Given the description of an element on the screen output the (x, y) to click on. 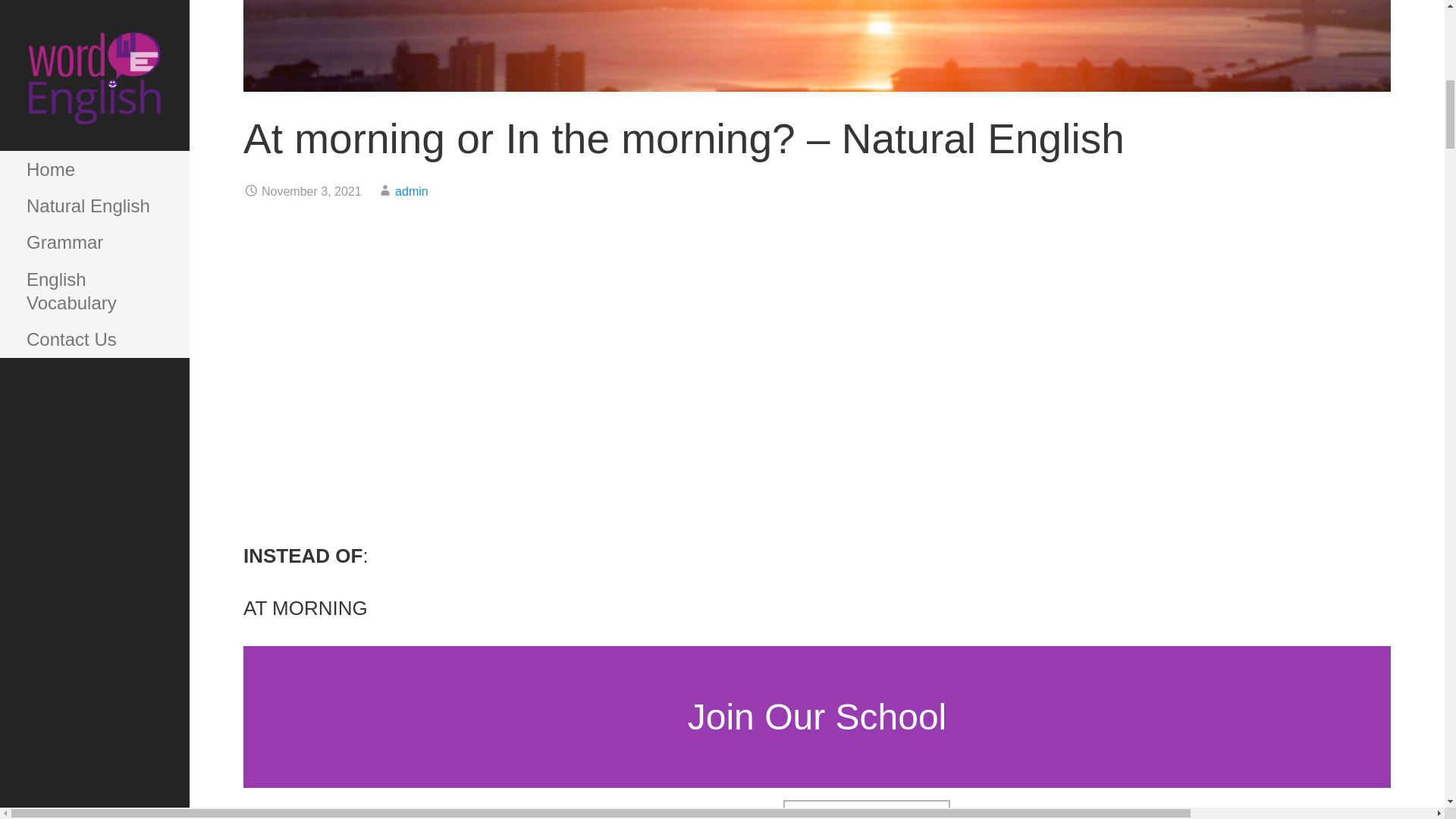
Posts by admin (411, 191)
admin (411, 191)
